Given the description of an element on the screen output the (x, y) to click on. 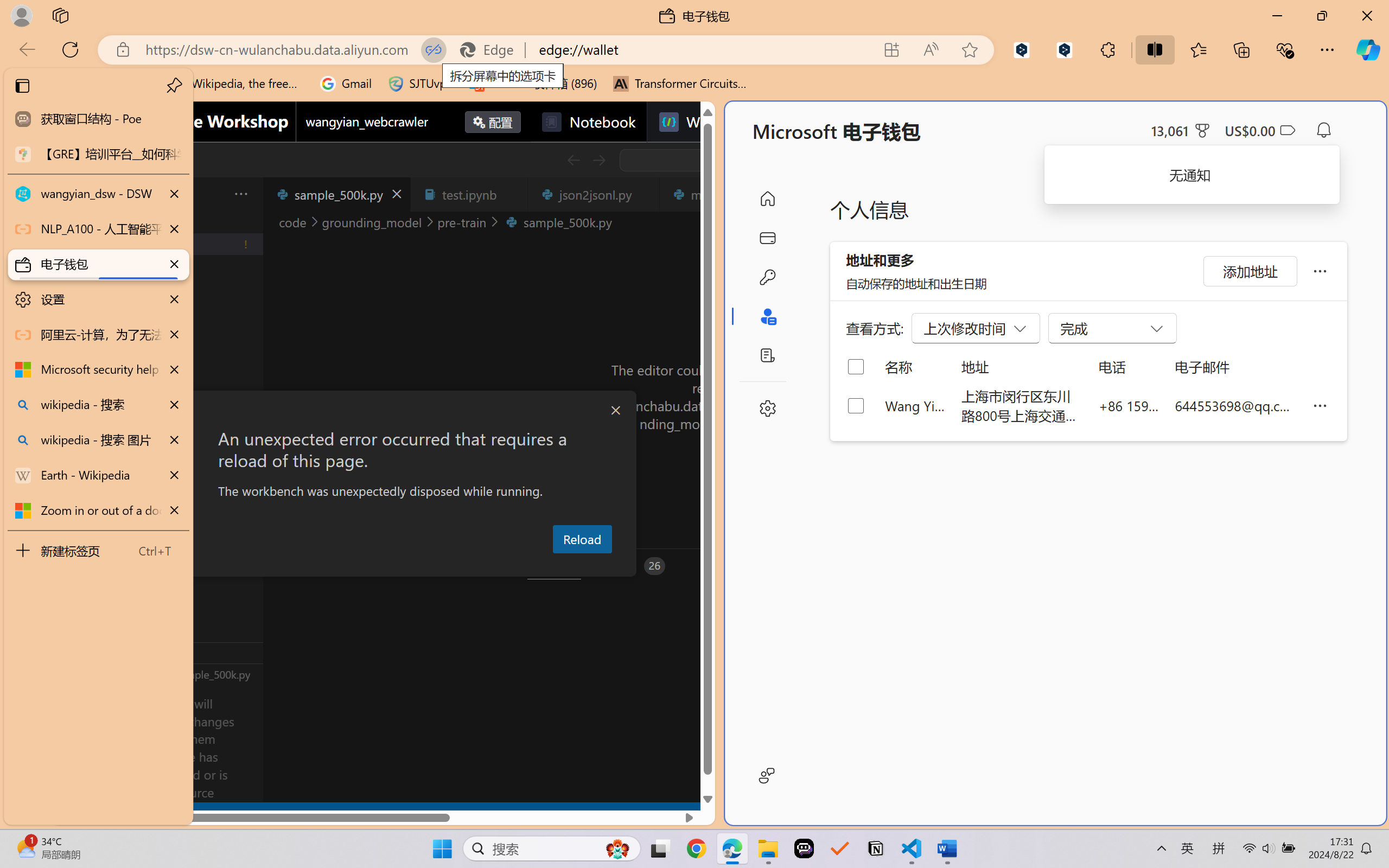
Microsoft Cashback - US$0.00 (1259, 129)
wangyian_dsw - DSW (97, 194)
WebIDE (698, 121)
Accounts - Sign in requested (73, 732)
Close (Ctrl+F4) (644, 194)
Class: menubar compact overflow-menu-only (73, 194)
Outline Section (179, 652)
